Given the description of an element on the screen output the (x, y) to click on. 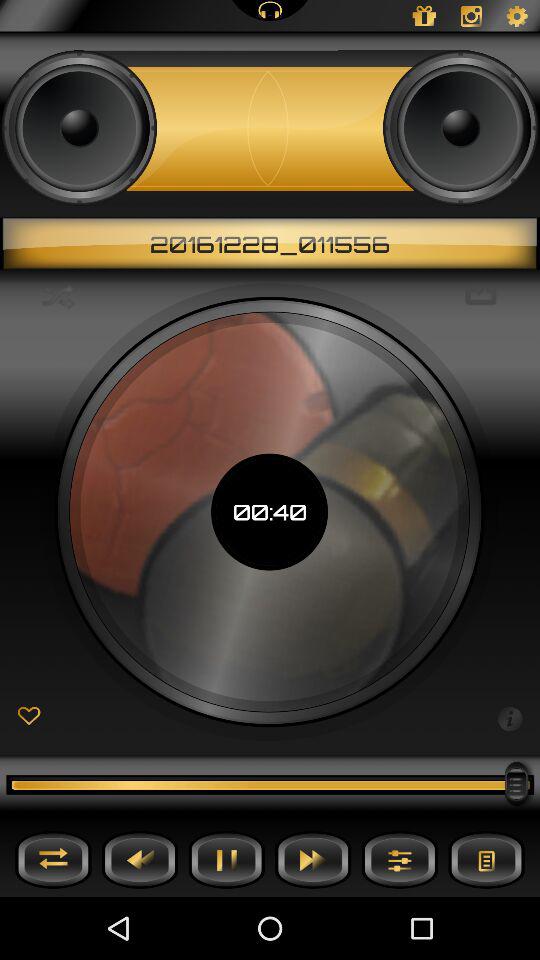
tuning (399, 859)
